Given the description of an element on the screen output the (x, y) to click on. 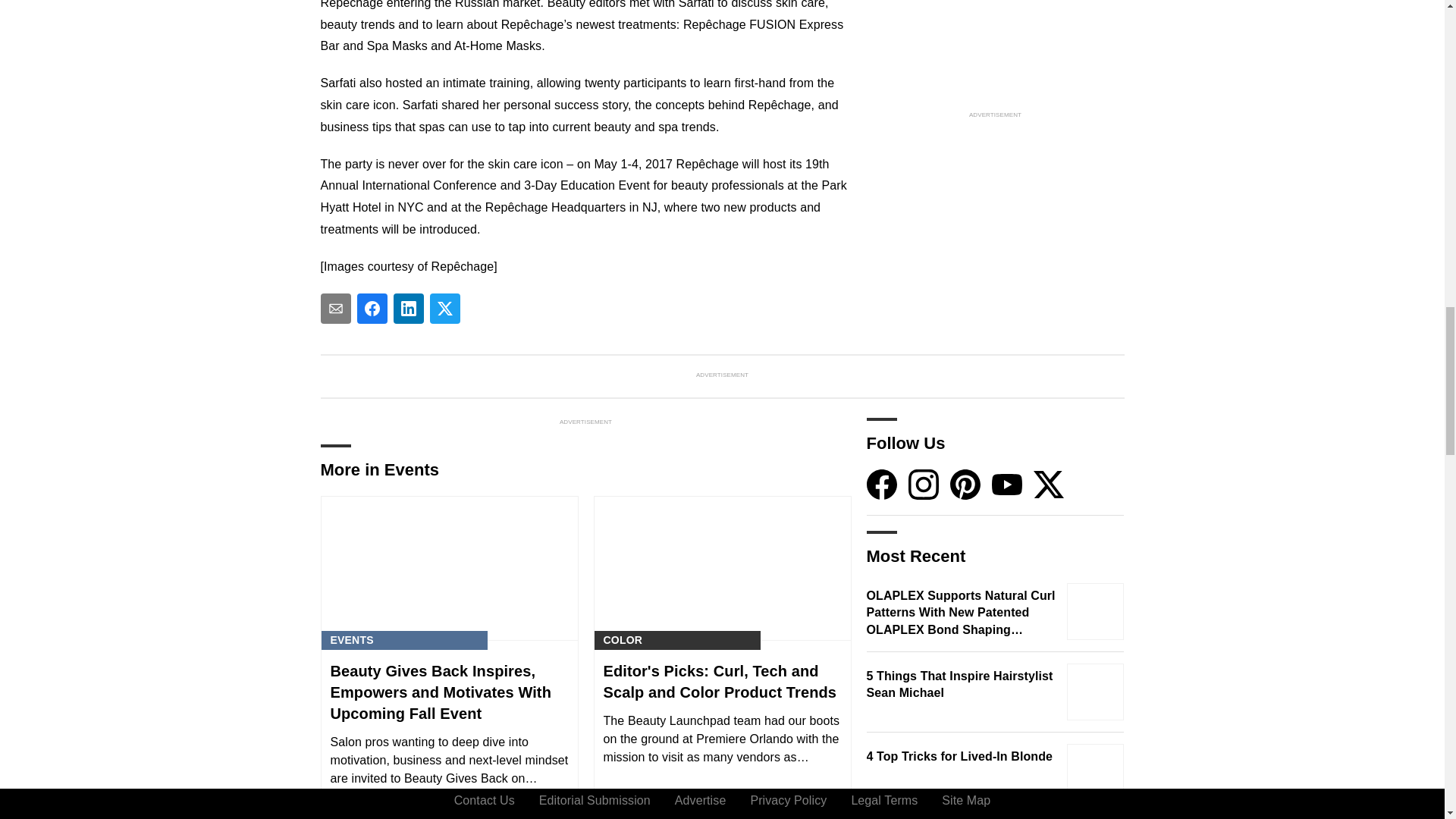
YouTube icon (1006, 484)
Facebook icon (881, 484)
Twitter X icon (1047, 484)
Share To facebook (371, 308)
Instagram icon (923, 484)
Pinterest icon (964, 484)
Share To twitter (444, 308)
Share To email (335, 308)
Share To linkedin (408, 308)
